Given the description of an element on the screen output the (x, y) to click on. 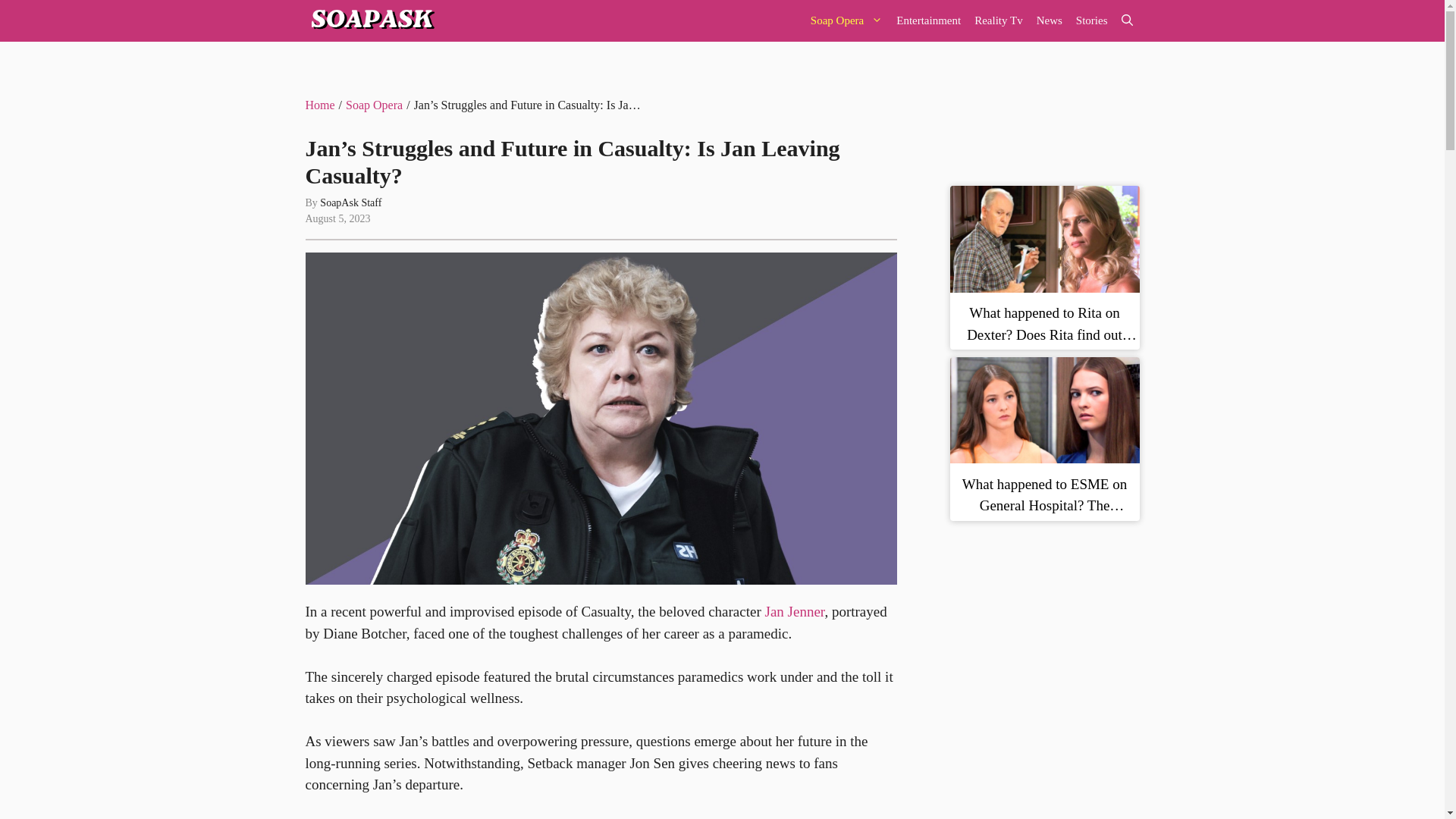
SoapAsk (370, 20)
Soap Opera (846, 20)
View all posts by SoapAsk Staff (350, 202)
